Given the description of an element on the screen output the (x, y) to click on. 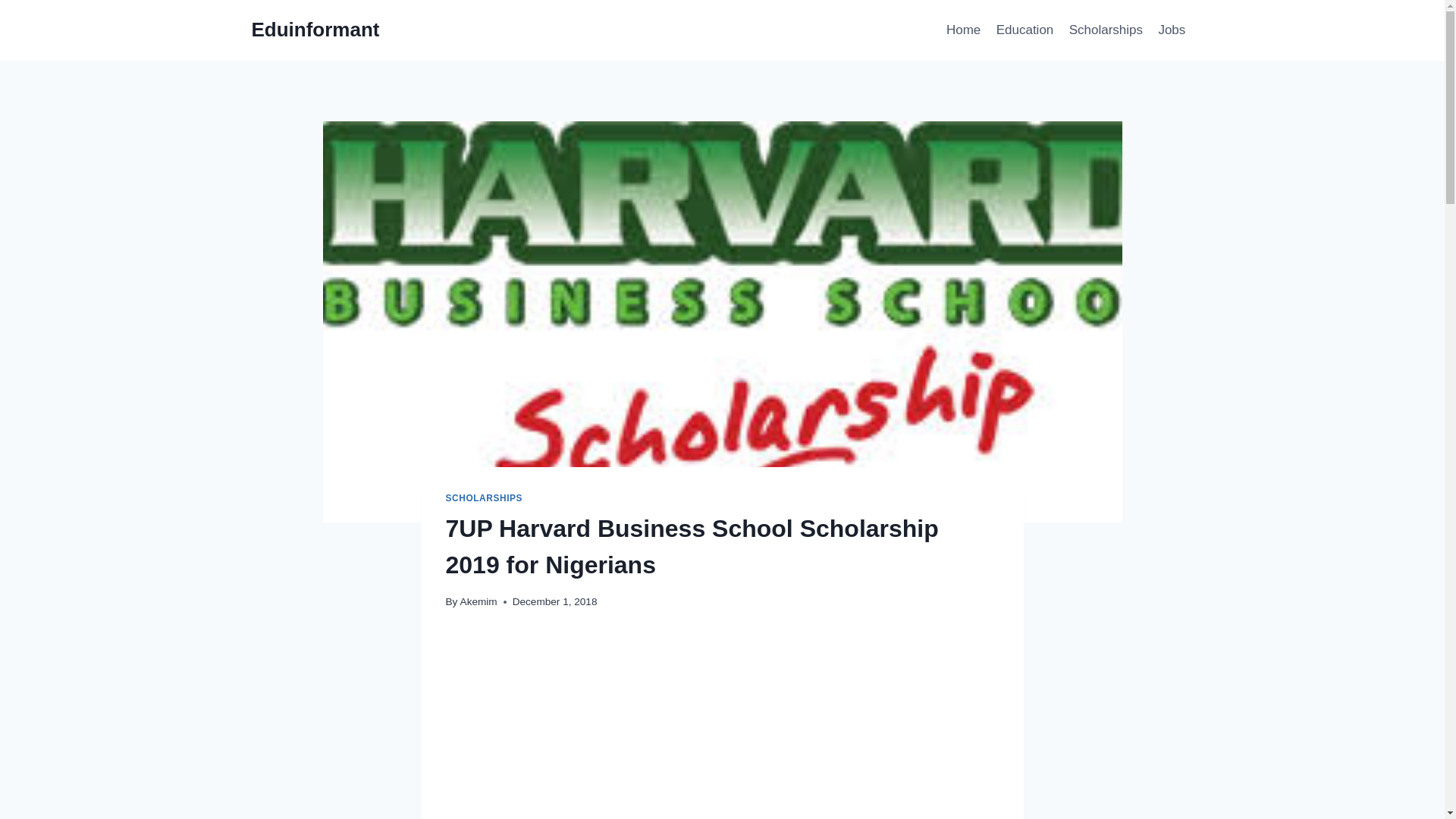
Education (1024, 30)
Eduinformant (315, 29)
Scholarships (1106, 30)
Jobs (1171, 30)
SCHOLARSHIPS (483, 498)
Home (963, 30)
Akemim (478, 601)
Advertisement (721, 726)
